Given the description of an element on the screen output the (x, y) to click on. 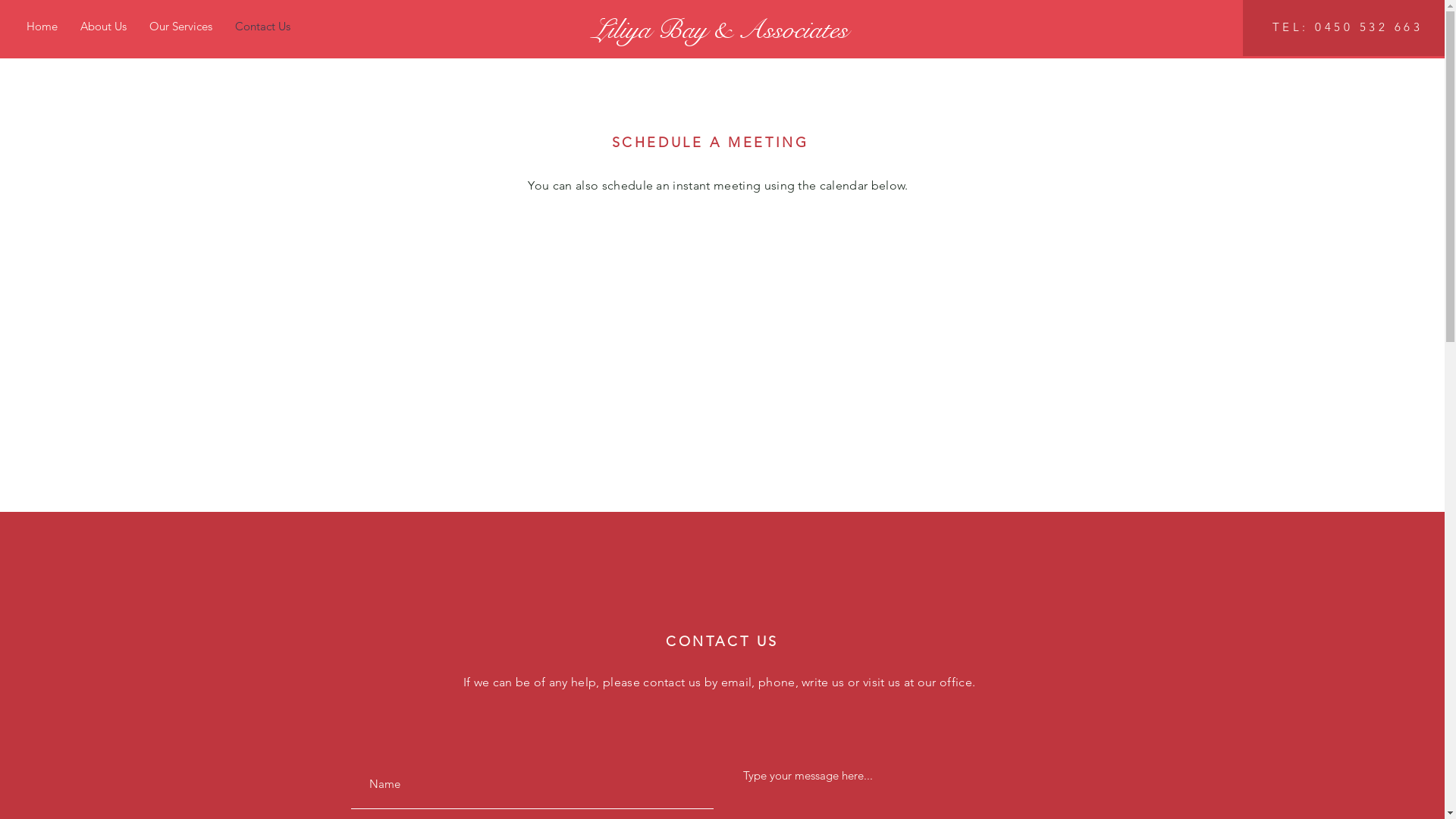
Home Element type: text (42, 26)
Embedded Content Element type: hover (715, 331)
Liliya Bay & Associates Element type: text (719, 29)
About Us Element type: text (103, 26)
Contact Us Element type: text (262, 26)
Our Services Element type: text (180, 26)
